Given the description of an element on the screen output the (x, y) to click on. 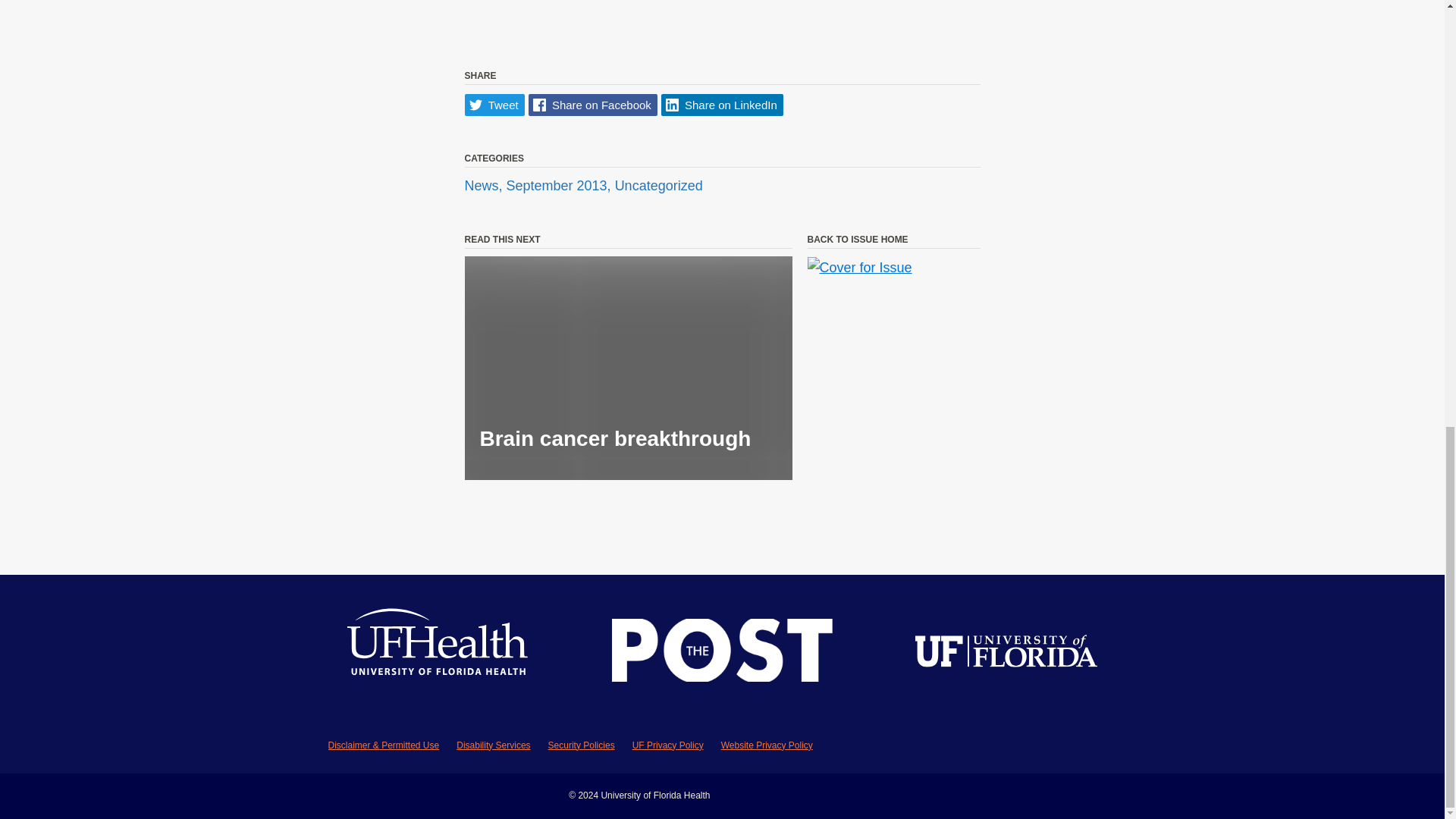
UF Privacy Policy (667, 745)
University of Florida Logo (1005, 653)
Brain cancer breakthrough (628, 367)
News, (484, 185)
Security Policies (581, 745)
Uncategorized (658, 185)
Tweet (494, 105)
UF Health (437, 653)
University of Florida (1005, 653)
Share on LinkedIn (722, 105)
Publication Logo (721, 653)
UF Health Logo (437, 653)
Disability Services (493, 745)
September 2013, (560, 185)
Website Privacy Policy (766, 745)
